Given the description of an element on the screen output the (x, y) to click on. 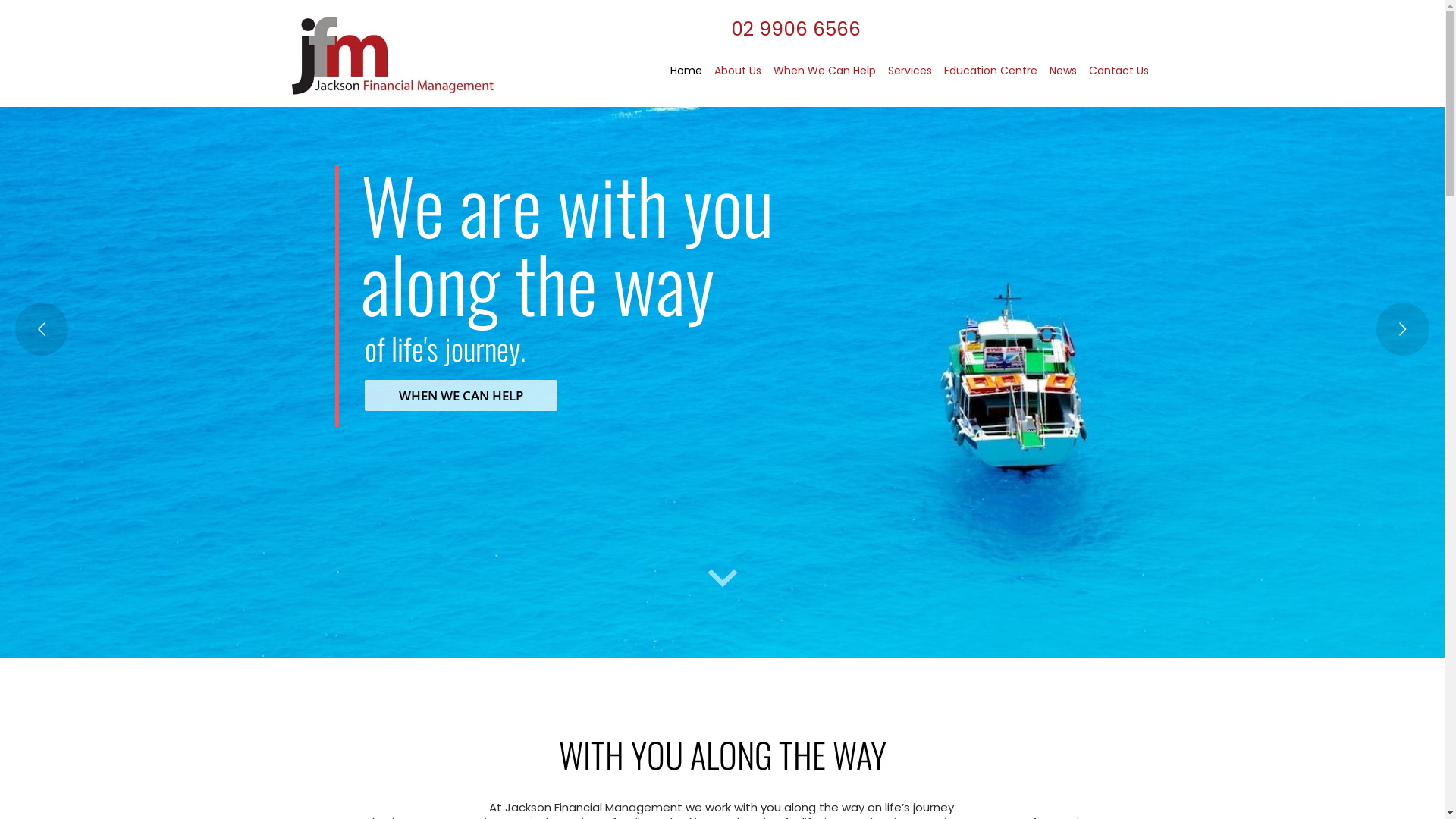
Education Centre Element type: text (989, 67)
Jackson Financial Management Element type: hover (391, 54)
Services Element type: text (909, 67)
About Us Element type: text (737, 67)
When We Can Help Element type: text (824, 67)
News Element type: text (1062, 67)
Home Element type: text (686, 70)
Contact Us Element type: text (1118, 67)
